Given the description of an element on the screen output the (x, y) to click on. 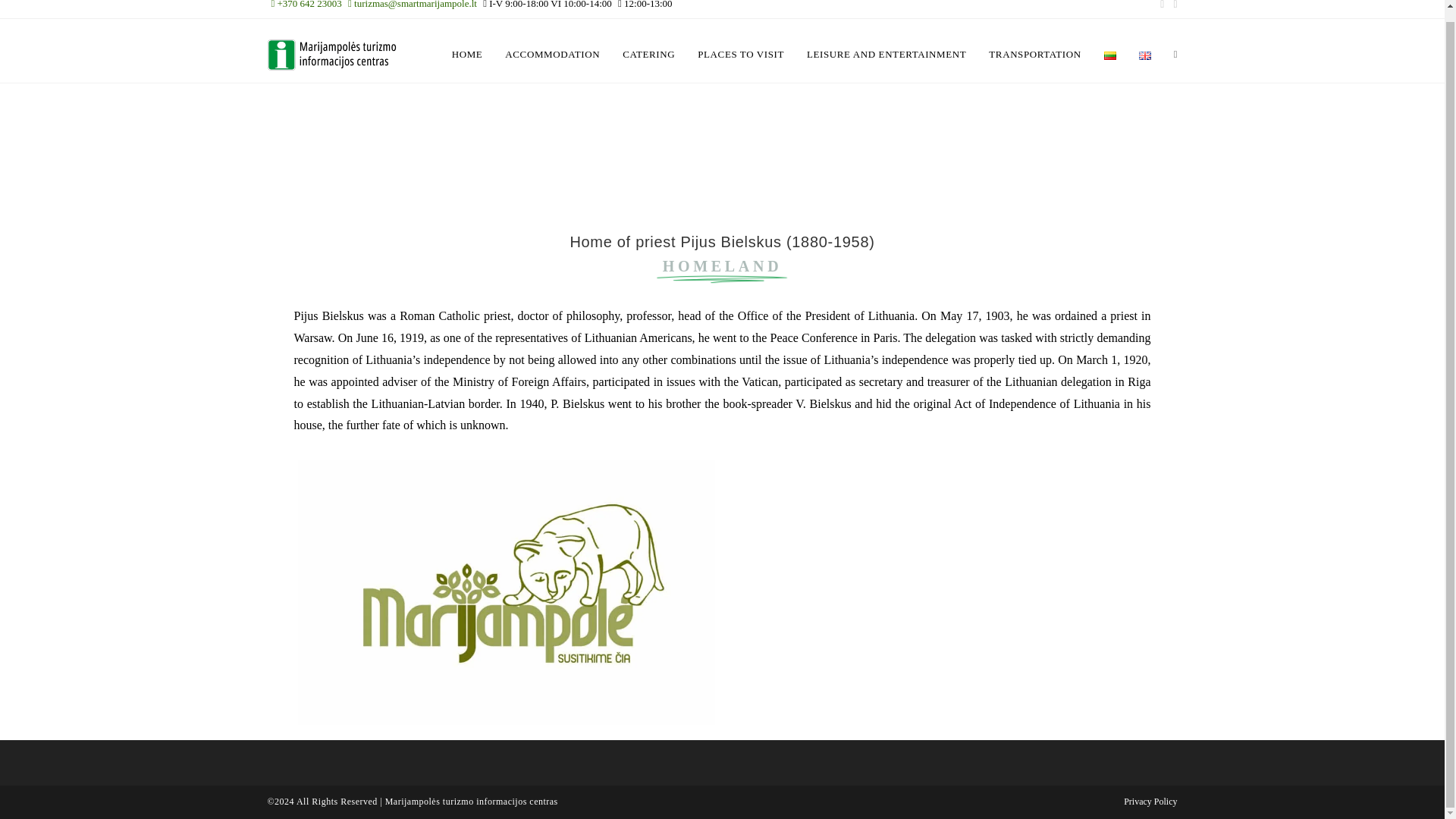
HOME (468, 54)
Balsupiai (938, 591)
ACCOMMODATION (552, 54)
CATERING (648, 54)
LEISURE AND ENTERTAINMENT (885, 54)
TRANSPORTATION (1034, 54)
PLACES TO VISIT (739, 54)
